Given the description of an element on the screen output the (x, y) to click on. 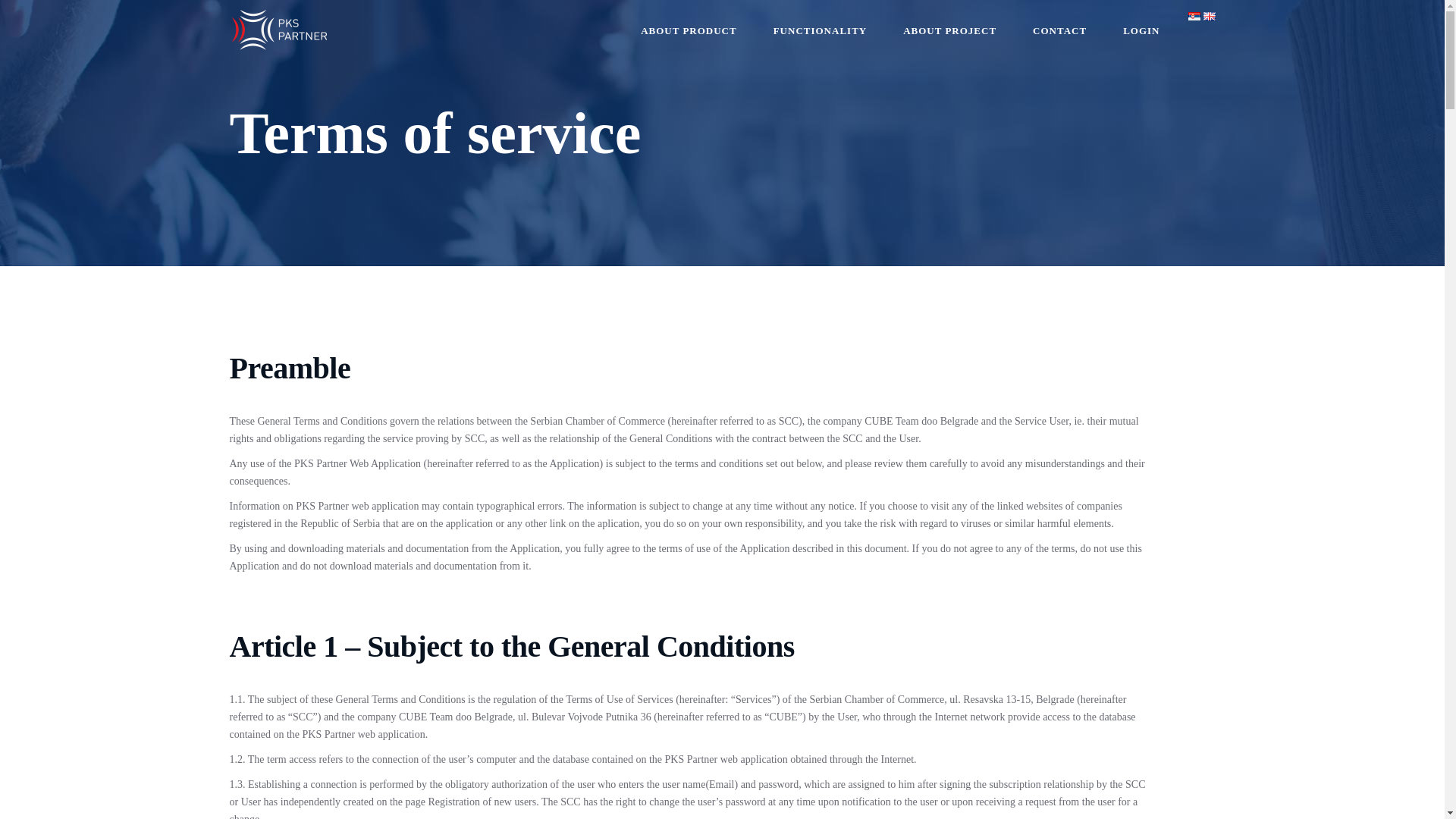
LOGIN (1141, 29)
ABOUT PRODUCT (689, 29)
English (1208, 16)
CONTACT (1059, 29)
ABOUT PROJECT (949, 29)
FUNCTIONALITY (820, 29)
